Given the description of an element on the screen output the (x, y) to click on. 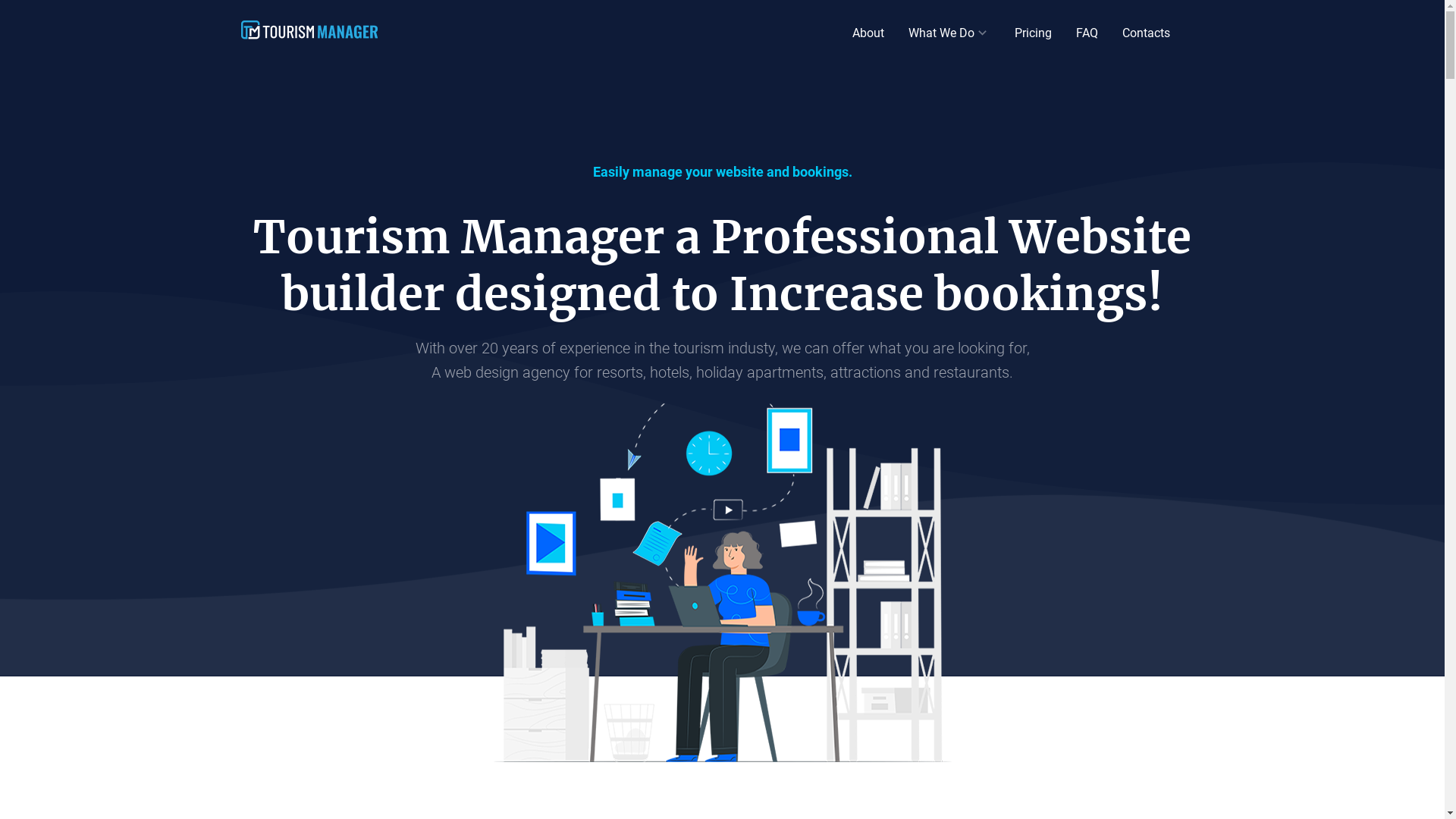
FAQ Element type: text (1086, 33)
Contacts Element type: text (1146, 33)
About Element type: text (868, 33)
Pricing Element type: text (1032, 33)
What We Do Element type: text (941, 33)
